Given the description of an element on the screen output the (x, y) to click on. 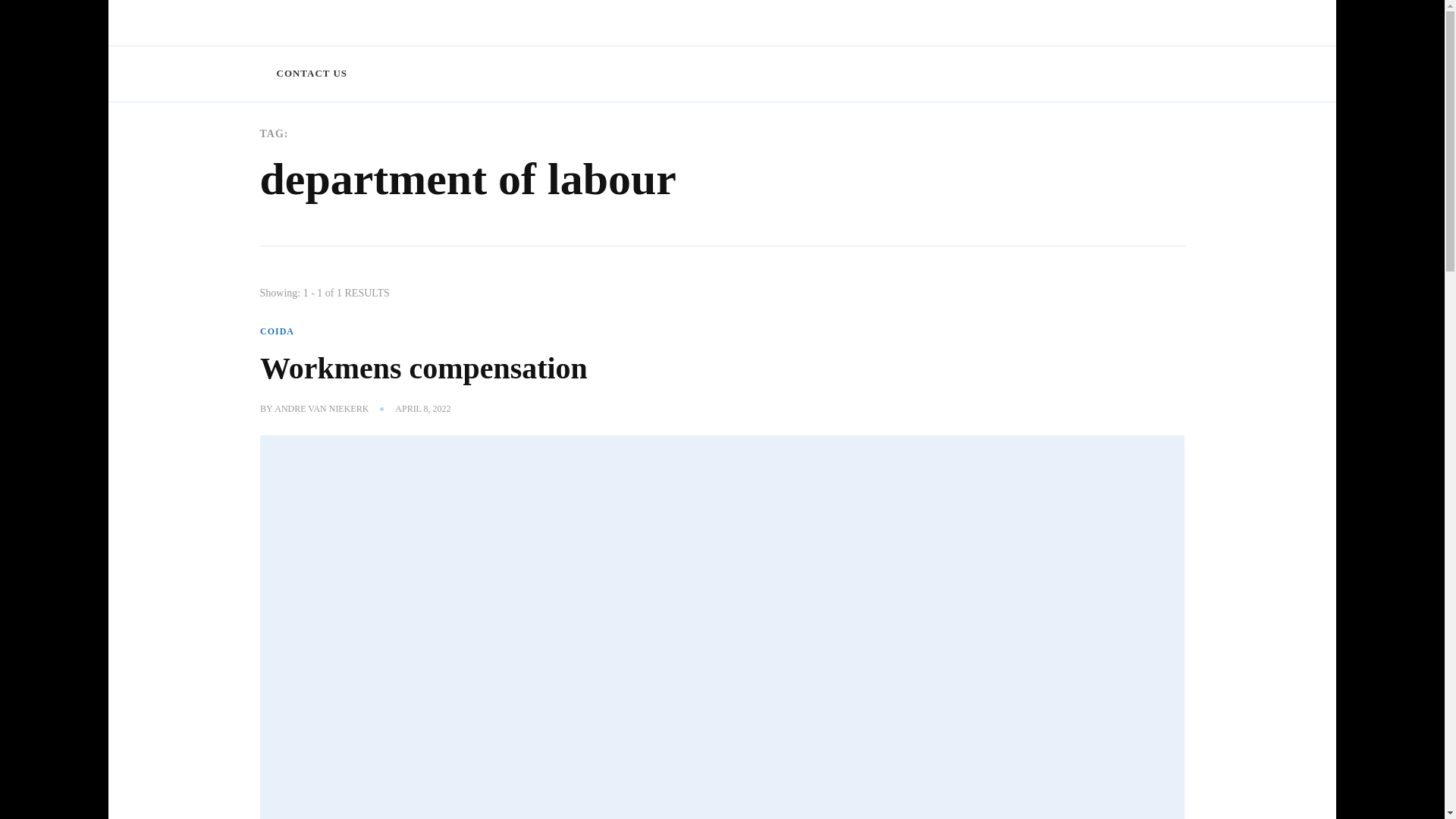
APRIL 8, 2022 (421, 409)
ANDRE VAN NIEKERK (321, 409)
Workmens compensation (424, 367)
CONTACT US (311, 74)
COIDA (277, 330)
